Given the description of an element on the screen output the (x, y) to click on. 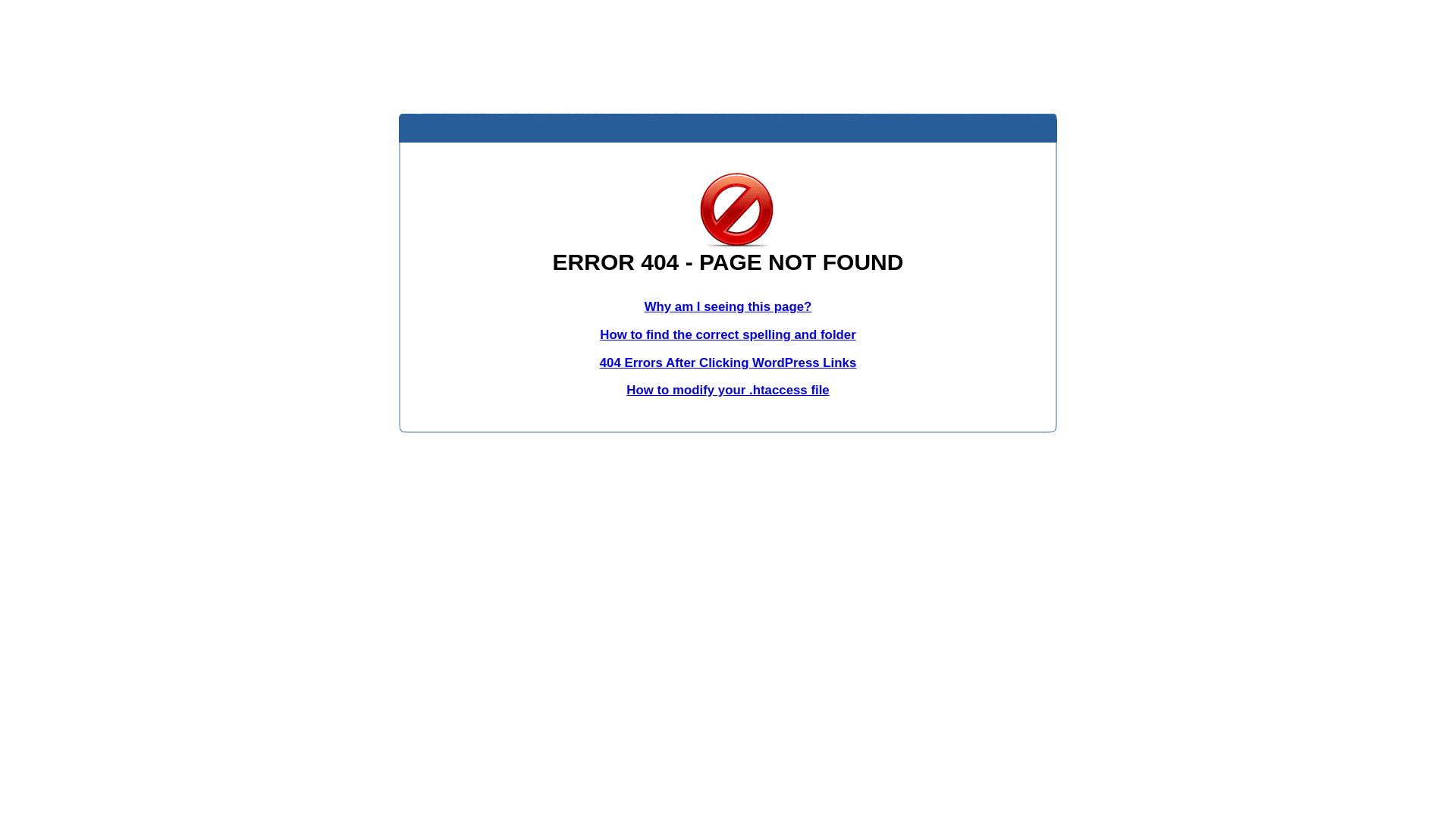
How to find the correct spelling and folder Element type: text (727, 334)
How to modify your .htaccess file Element type: text (727, 389)
404 Errors After Clicking WordPress Links Element type: text (727, 362)
Why am I seeing this page? Element type: text (728, 306)
